Given the description of an element on the screen output the (x, y) to click on. 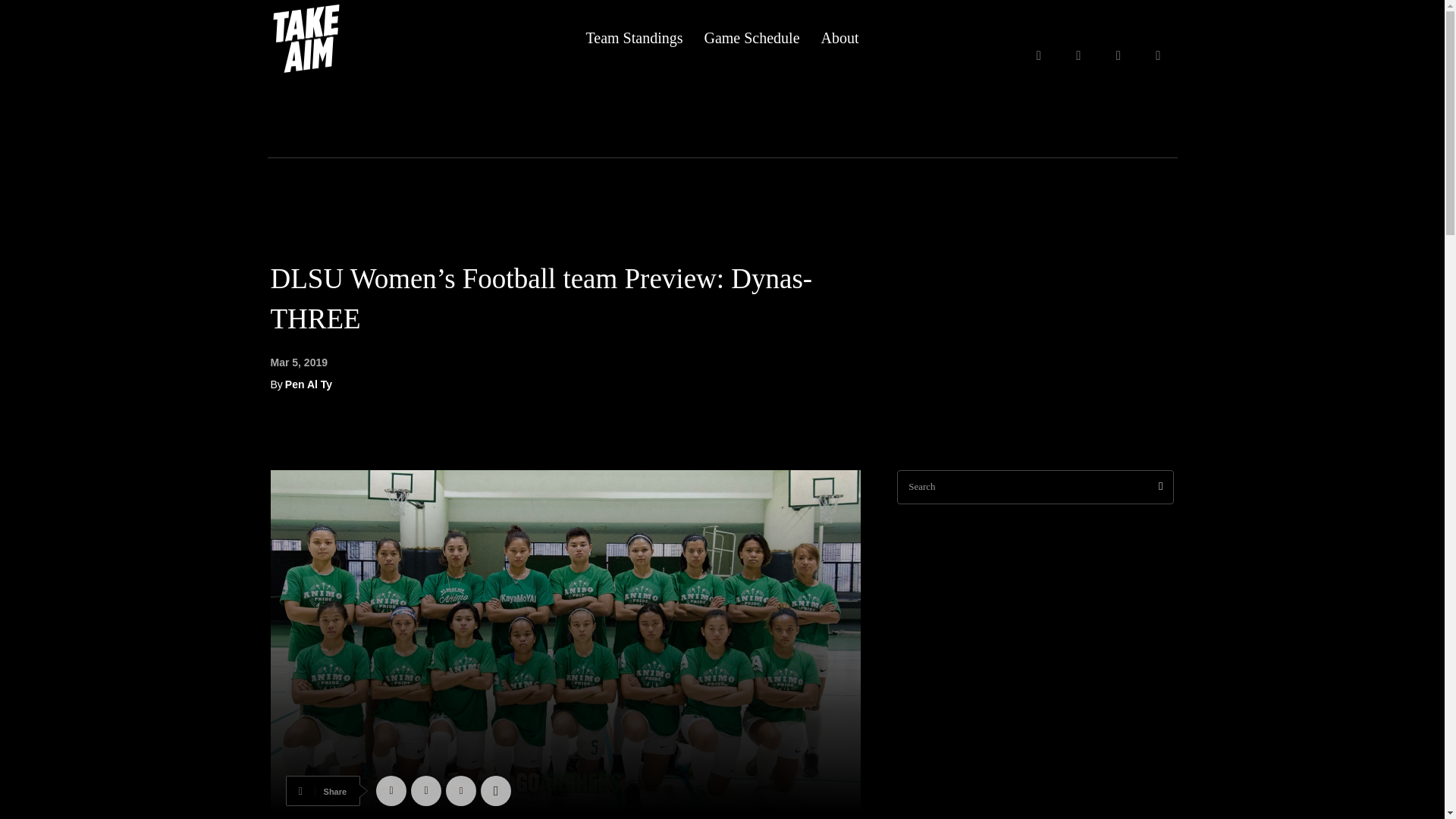
Take Aim (307, 38)
Twitter (425, 790)
Game Schedule (751, 38)
Take Aim (345, 38)
Facebook (390, 790)
Twitter (1157, 56)
Team Standings (633, 38)
Facebook (1078, 56)
Pen Al Ty (308, 384)
Instagram (1118, 56)
